Given the description of an element on the screen output the (x, y) to click on. 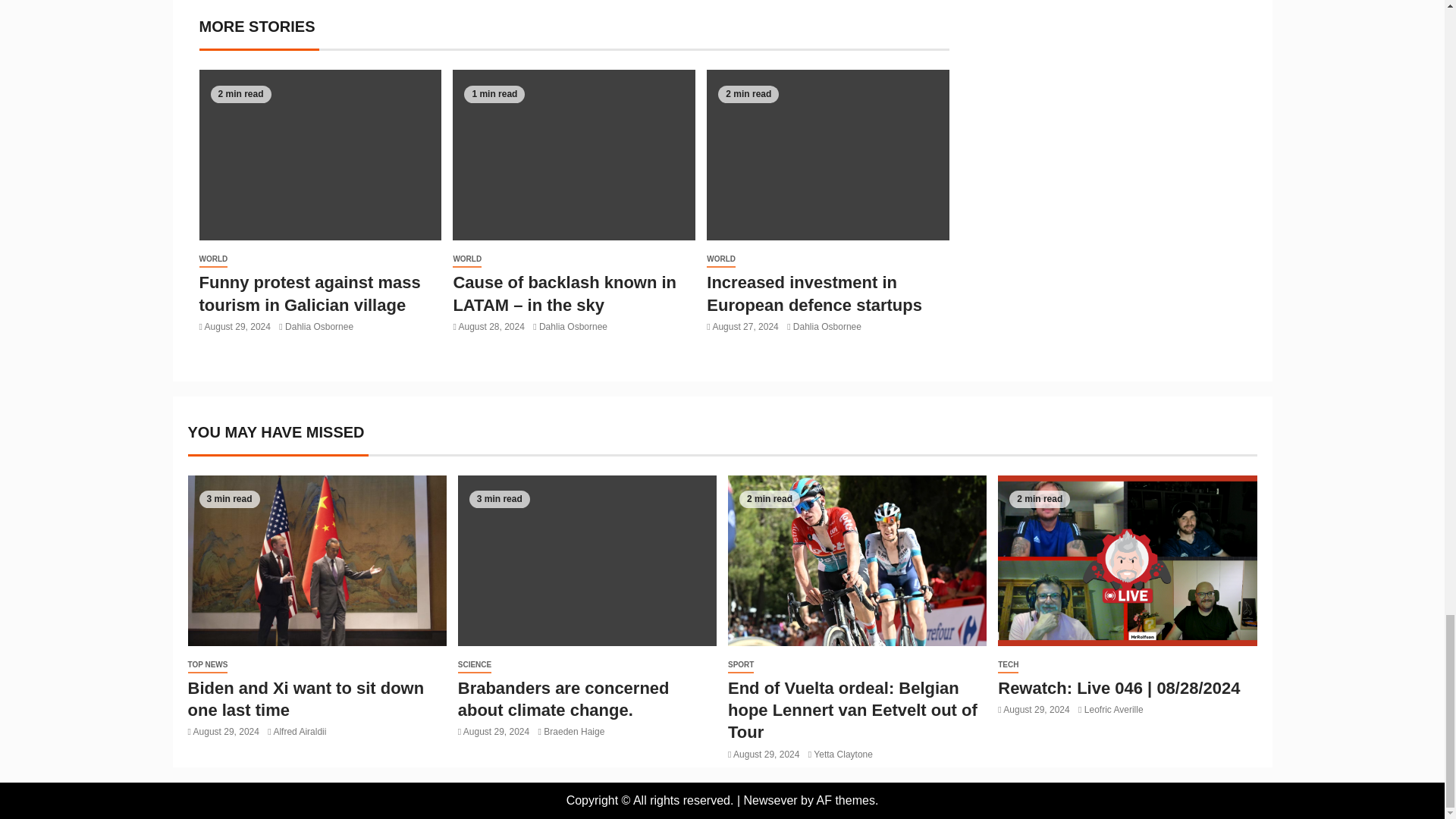
Dahlia Osbornee (319, 326)
Funny protest against mass tourism in Galician village (309, 292)
WORLD (212, 259)
